Given the description of an element on the screen output the (x, y) to click on. 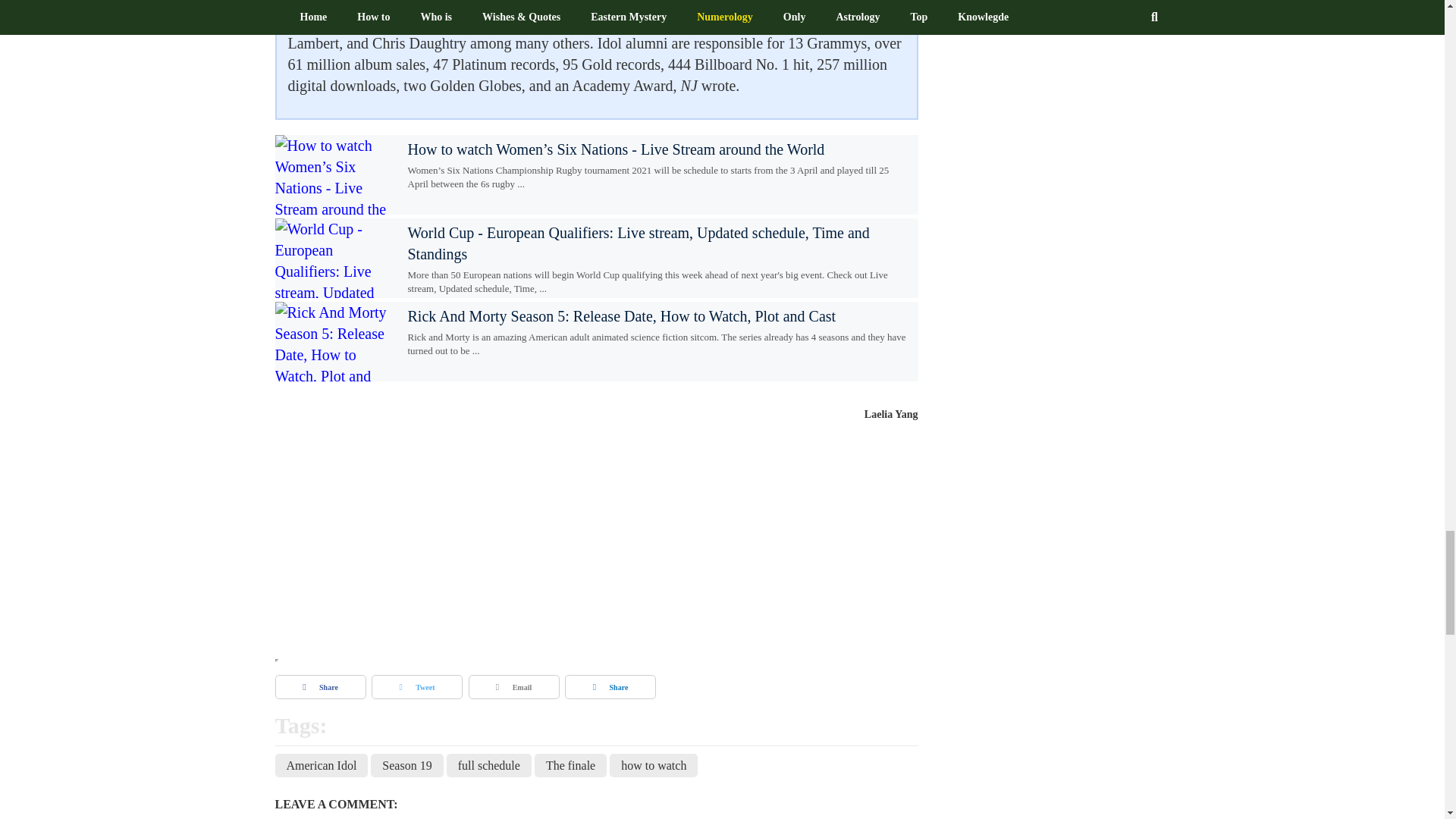
The finale (570, 765)
Share by Email (513, 686)
full schedule (488, 765)
Season 19 (406, 765)
American Idol (321, 765)
